Given the description of an element on the screen output the (x, y) to click on. 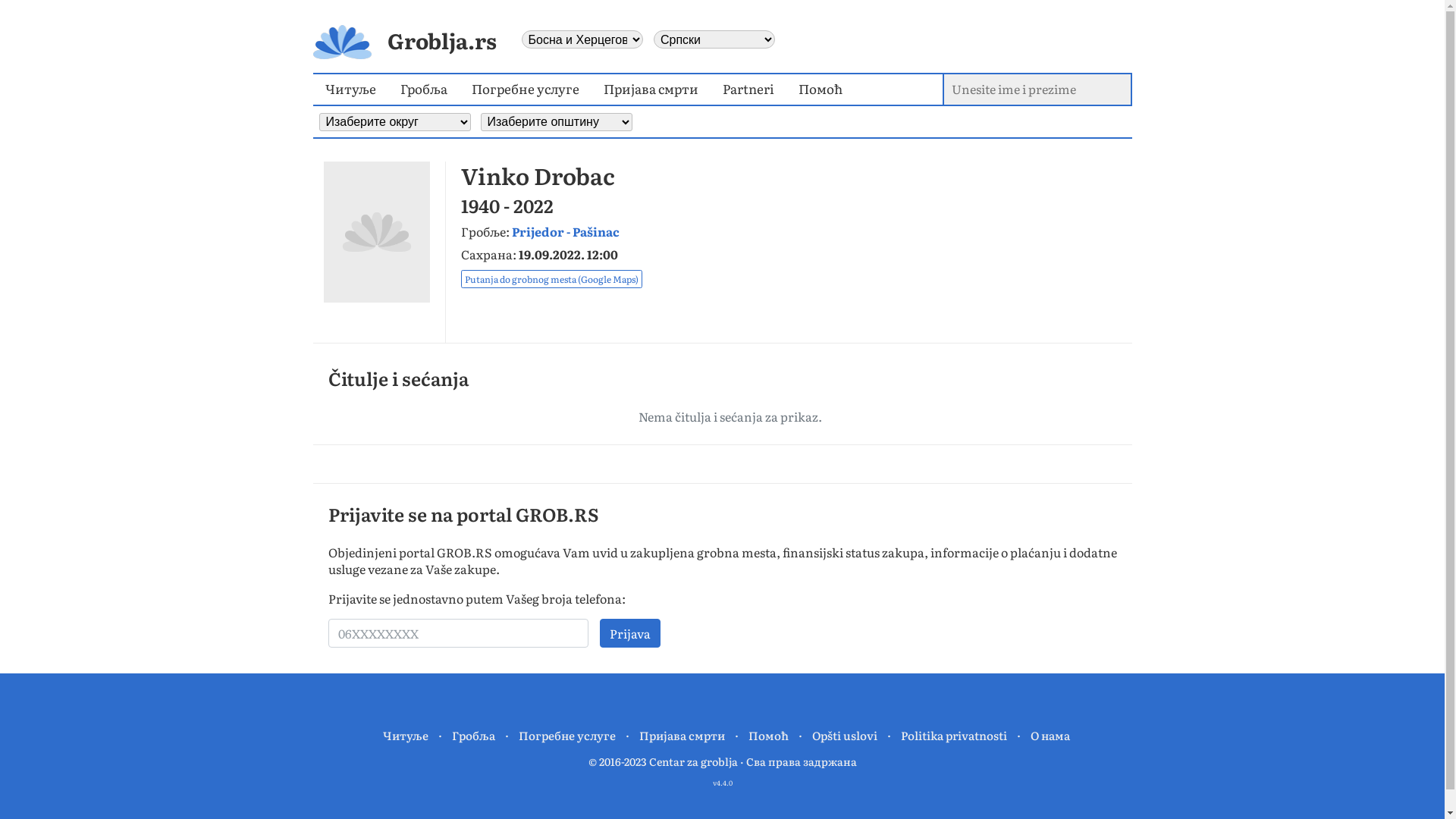
Groblja.rs Element type: text (403, 39)
Partneri Element type: text (747, 88)
Politika privatnosti Element type: text (953, 734)
Prijava Element type: text (629, 632)
